Given the description of an element on the screen output the (x, y) to click on. 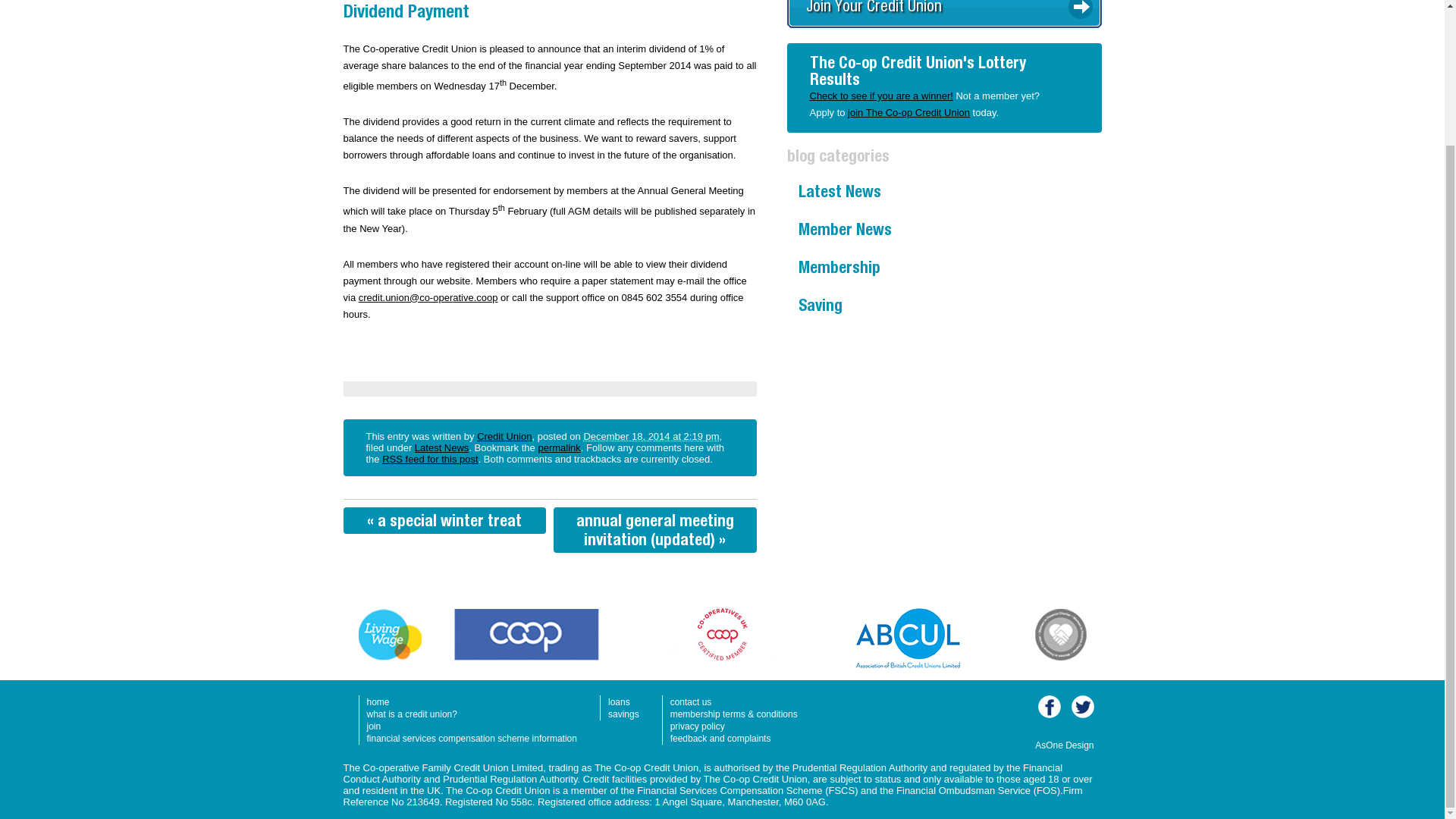
Comments RSS to Dividend Payment (429, 459)
Permalink to Dividend Payment (558, 447)
View all posts by Credit Union (504, 436)
